Given the description of an element on the screen output the (x, y) to click on. 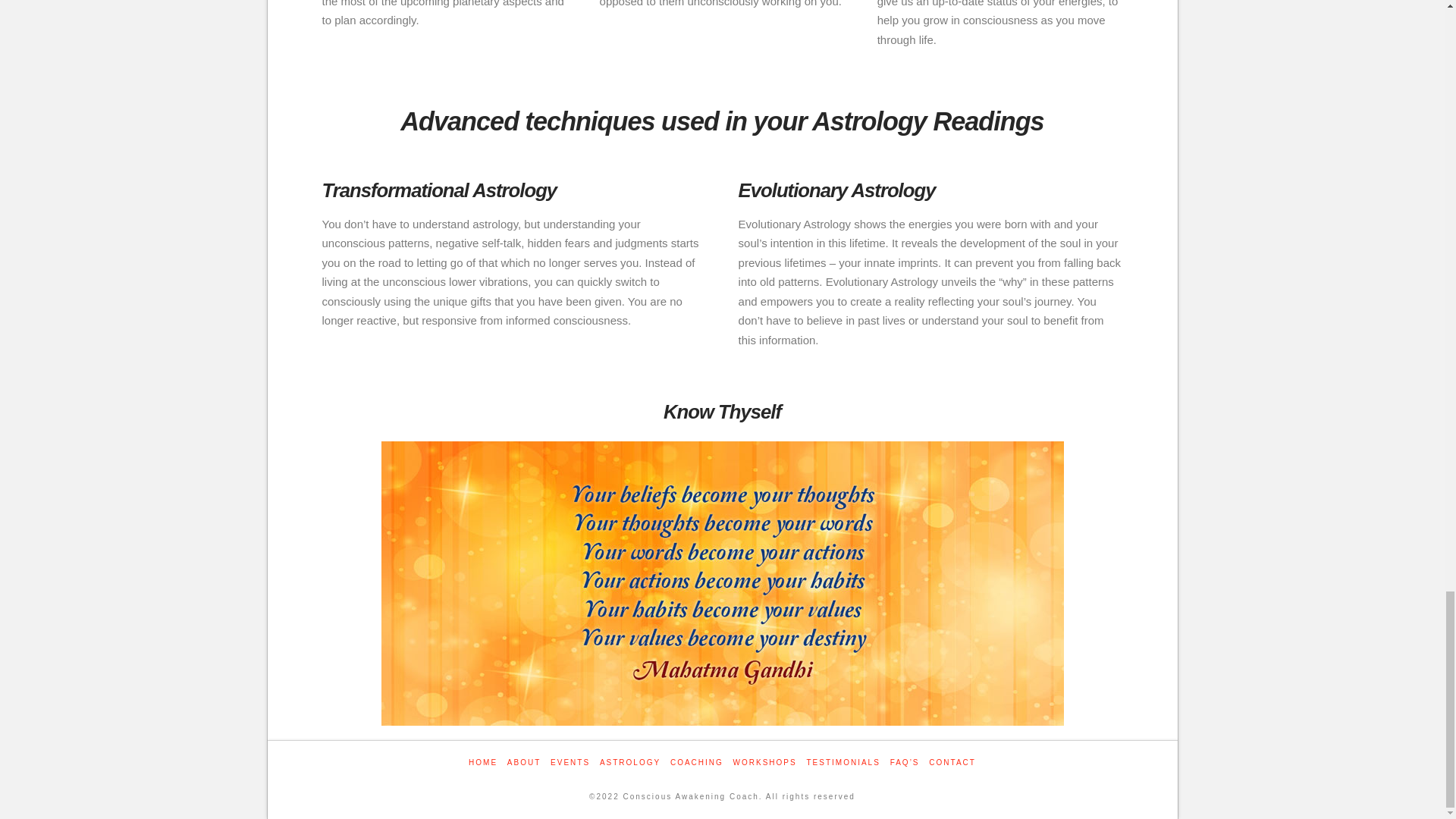
ABOUT (523, 762)
CONTACT (951, 762)
TESTIMONIALS (843, 762)
WORKSHOPS (764, 762)
HOME (482, 762)
ASTROLOGY (630, 762)
COACHING (696, 762)
EVENTS (569, 762)
